Given the description of an element on the screen output the (x, y) to click on. 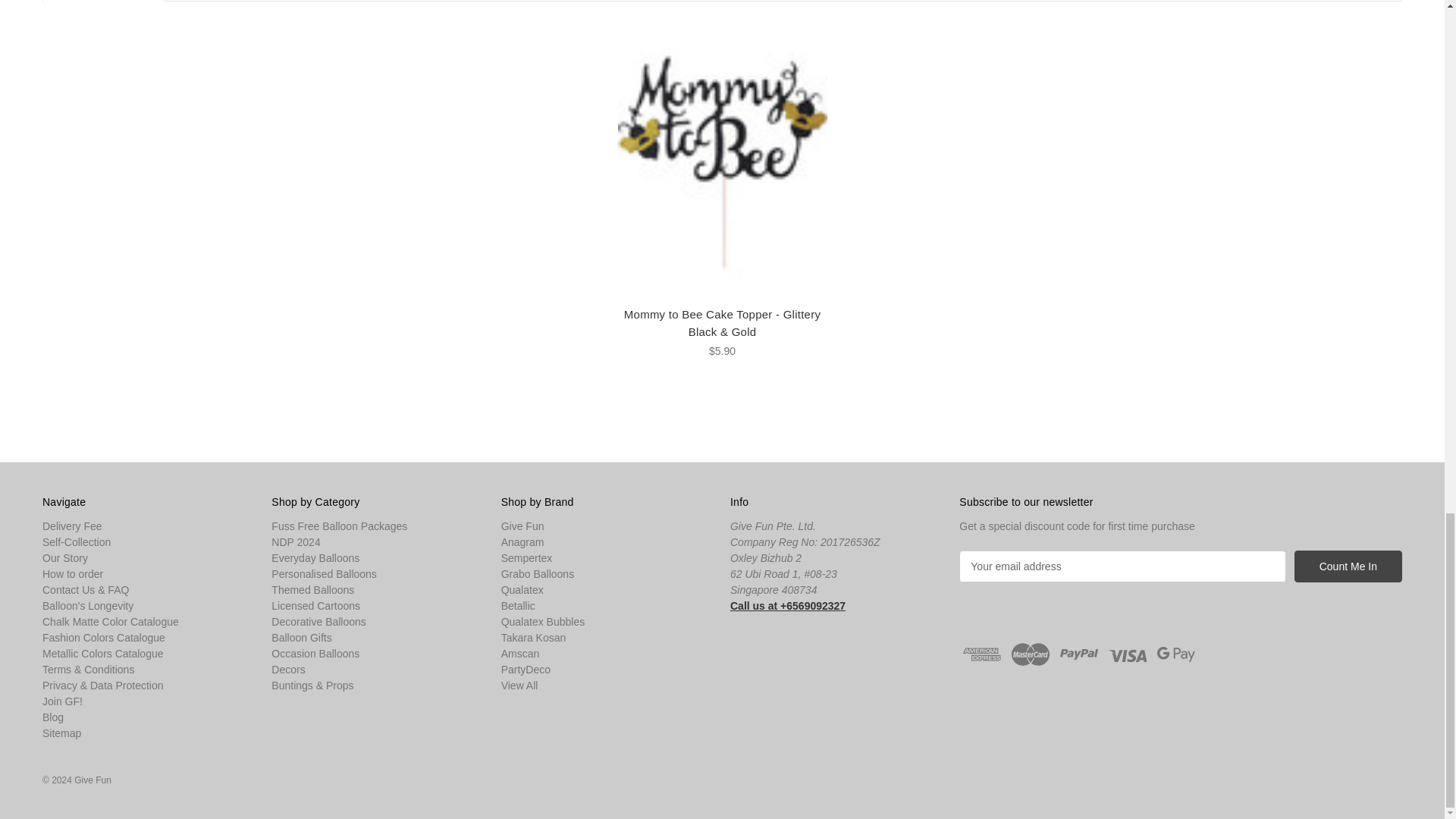
Count Me In (1348, 566)
